Given the description of an element on the screen output the (x, y) to click on. 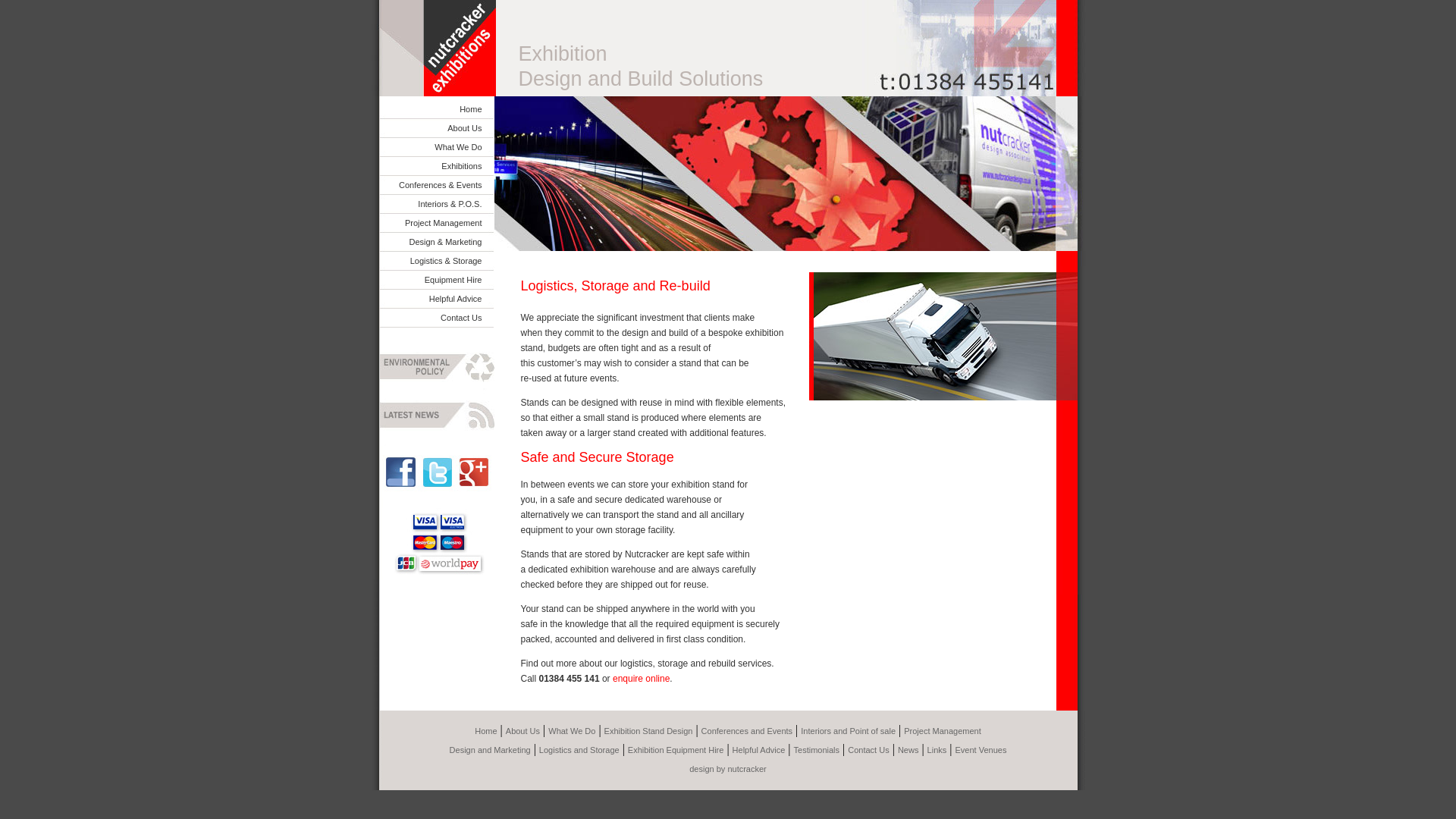
design by nutcracker (727, 768)
What We Do (457, 146)
enquire online (640, 678)
About Us (463, 127)
Event Venues (981, 749)
Conferences and Events (746, 730)
Exhibitions (461, 165)
Links (937, 749)
About Us (522, 730)
Interiors and Point of sale (847, 730)
